Given the description of an element on the screen output the (x, y) to click on. 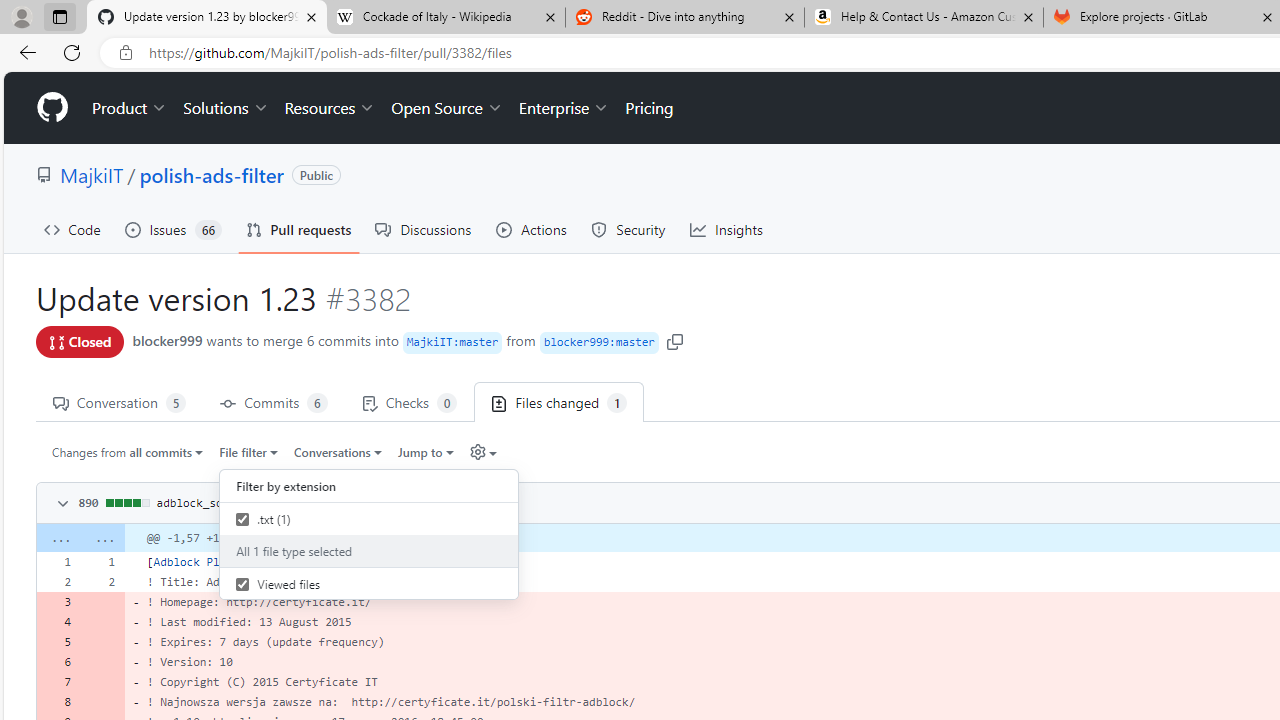
 Commits 6 (274, 401)
Pull requests (298, 229)
1 (102, 561)
Viewed files (369, 583)
polish-ads-filter (211, 174)
5 (58, 642)
Diff settings (477, 452)
Class: blob-num blob-num-deletion empty-cell (102, 701)
Issues 66 (173, 229)
7 (58, 681)
Open Source (446, 107)
 Files changed 1 (559, 401)
